Given the description of an element on the screen output the (x, y) to click on. 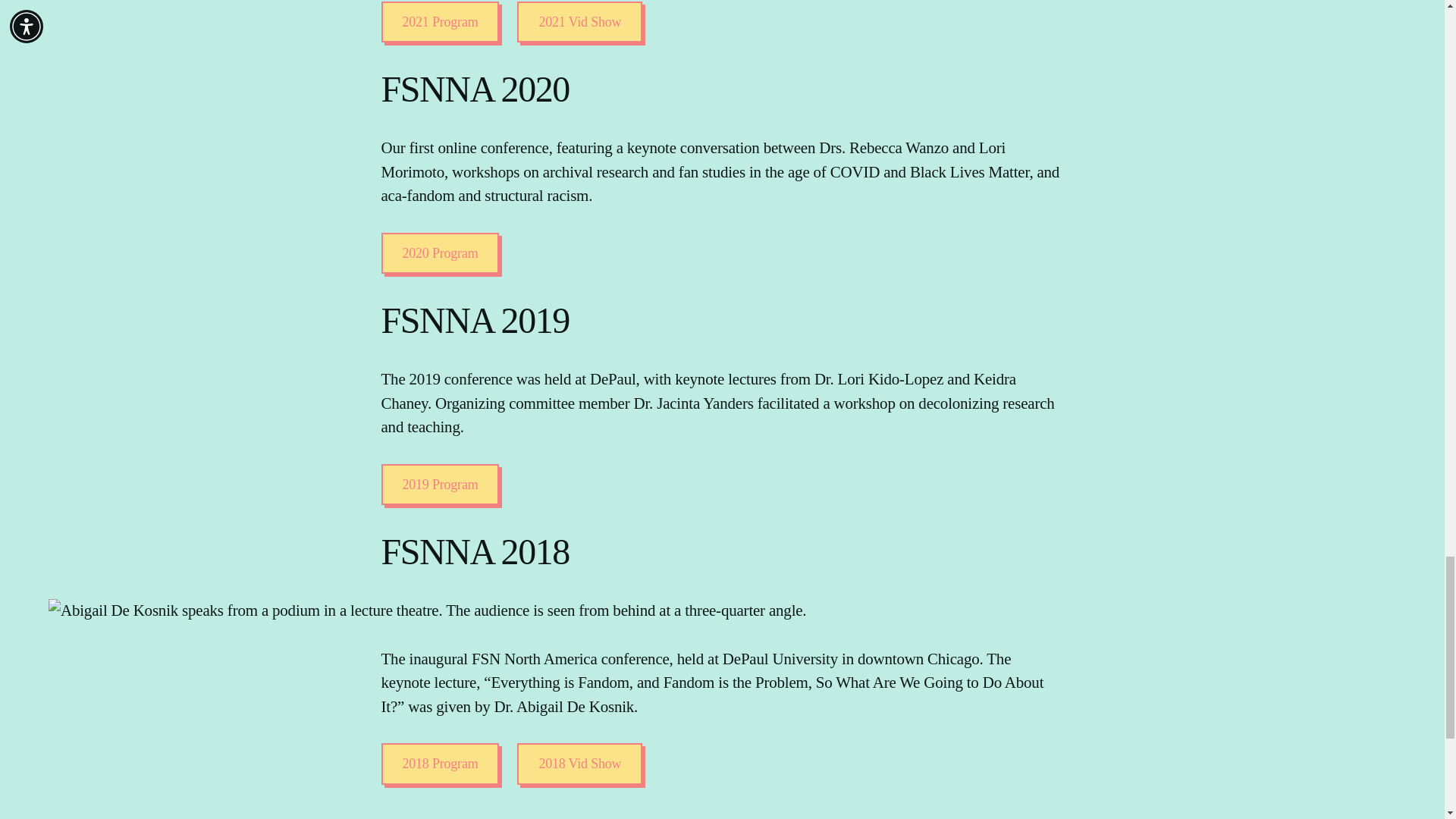
2018 Vid Show (579, 763)
2018 Program (439, 763)
2021 Program (439, 22)
2019 Program (439, 485)
2020 Program (439, 253)
2021 Vid Show (579, 22)
